Given the description of an element on the screen output the (x, y) to click on. 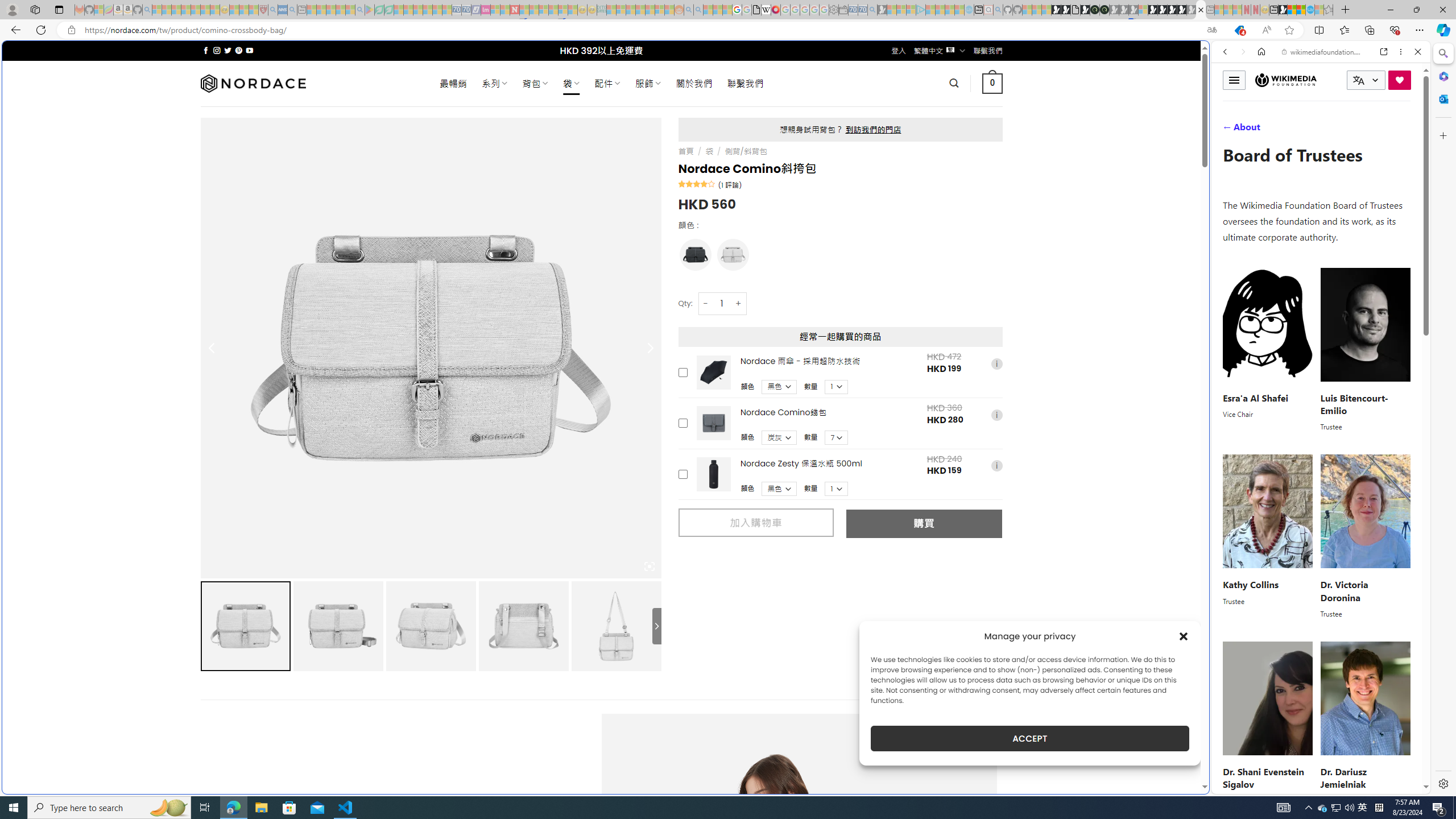
Earth has six continents not seven, radical new study claims (1300, 9)
Follow on Facebook (205, 50)
Esra'a Al Shafei (1254, 397)
Follow on Twitter (227, 50)
Follow on YouTube (249, 50)
